Given the description of an element on the screen output the (x, y) to click on. 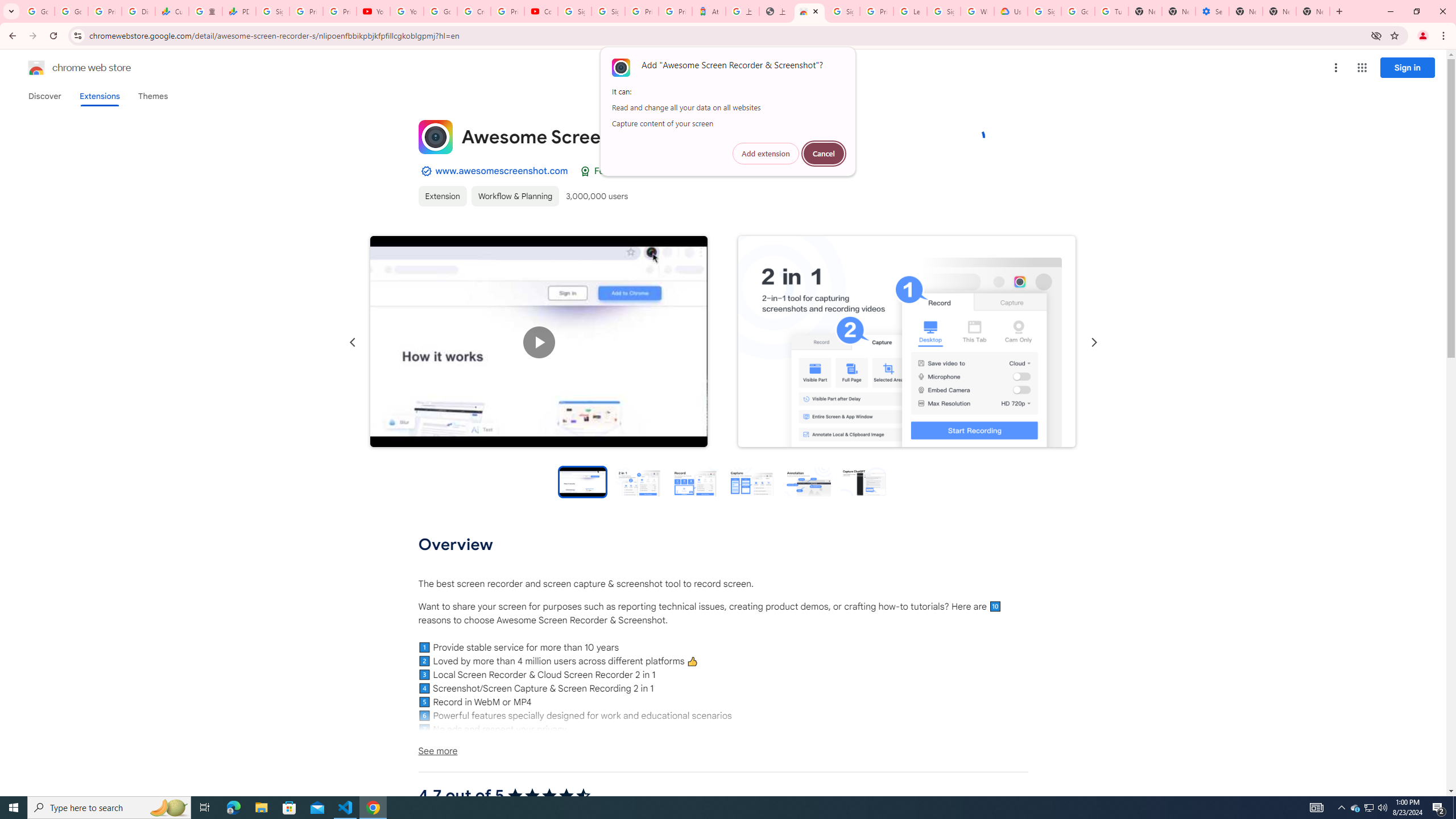
Preview slide 3 (694, 481)
Content Creator Programs & Opportunities - YouTube Creators (541, 11)
4.7 out of 5 stars (549, 795)
Microsoft Store (289, 807)
Sign in - Google Accounts (1355, 807)
PDD Holdings Inc - ADR (PDD) Price & News - Google Finance (272, 11)
Item media 2 screenshot (238, 11)
